Given the description of an element on the screen output the (x, y) to click on. 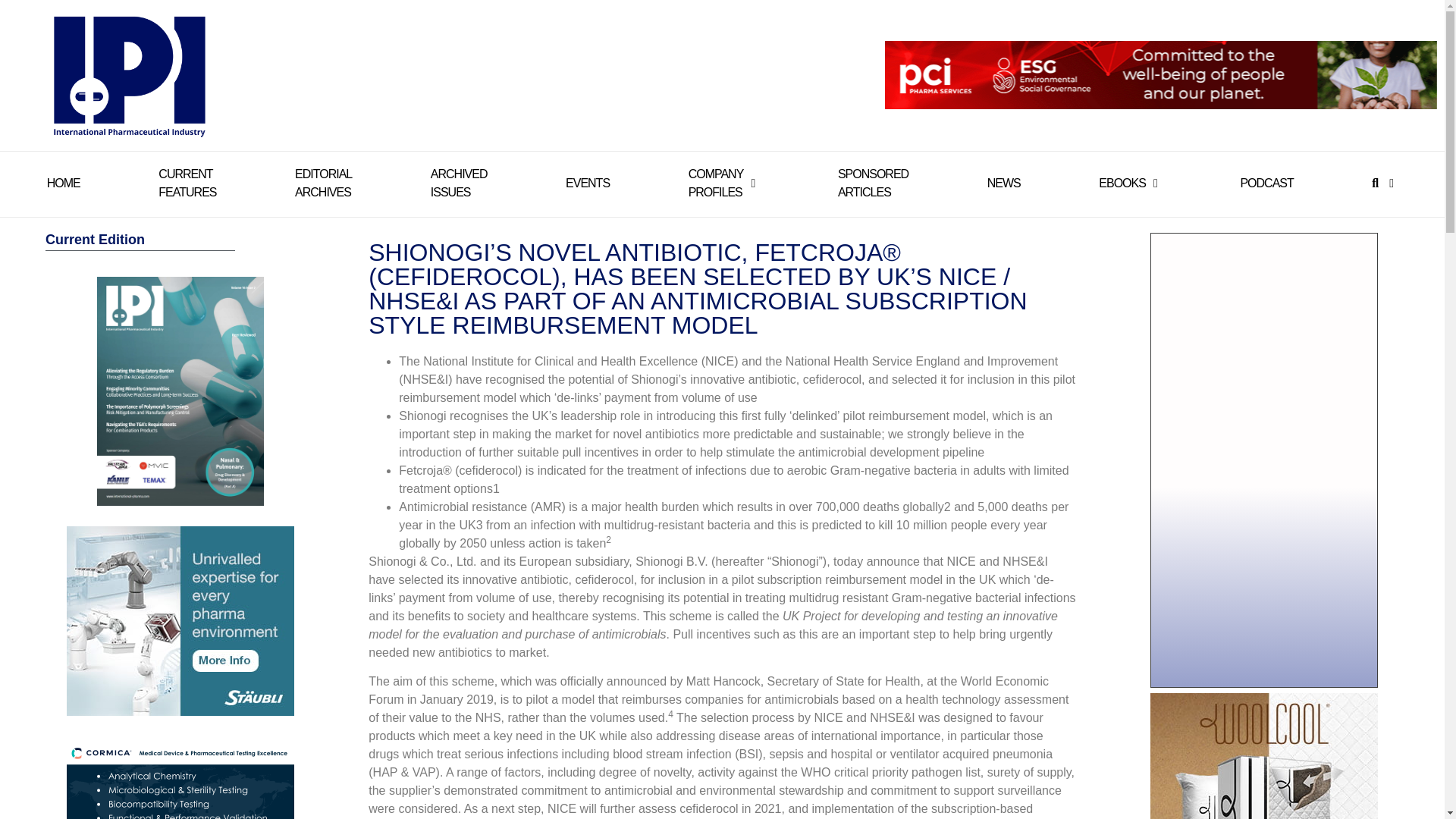
EVENTS (716, 183)
NEWS (186, 183)
PODCAST (588, 183)
HOME (323, 183)
